Given the description of an element on the screen output the (x, y) to click on. 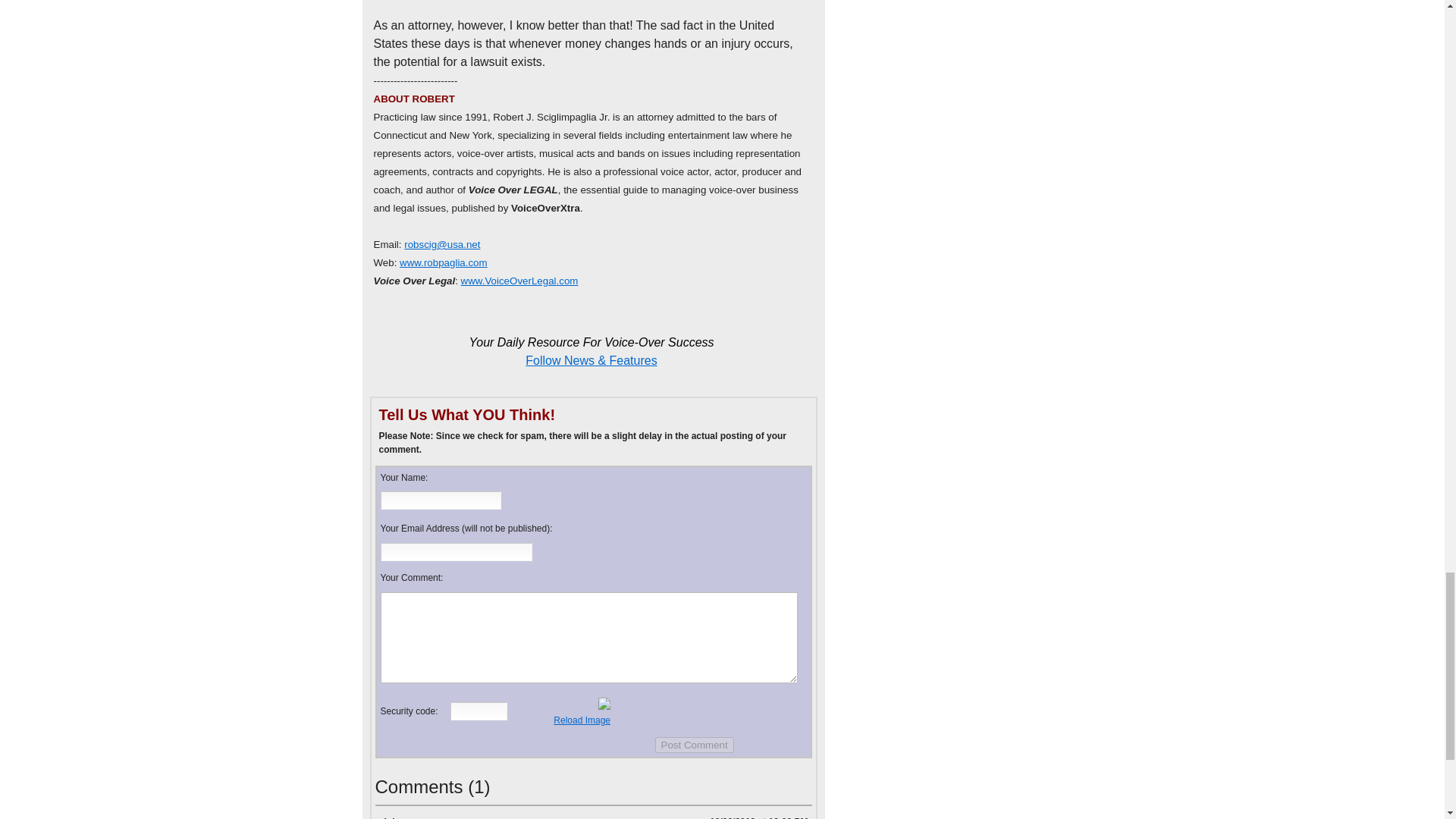
Reload Image (581, 719)
Post Comment (694, 744)
Post Comment (694, 744)
www.robpaglia.com (442, 262)
www.VoiceOverLegal.com (519, 280)
